Given the description of an element on the screen output the (x, y) to click on. 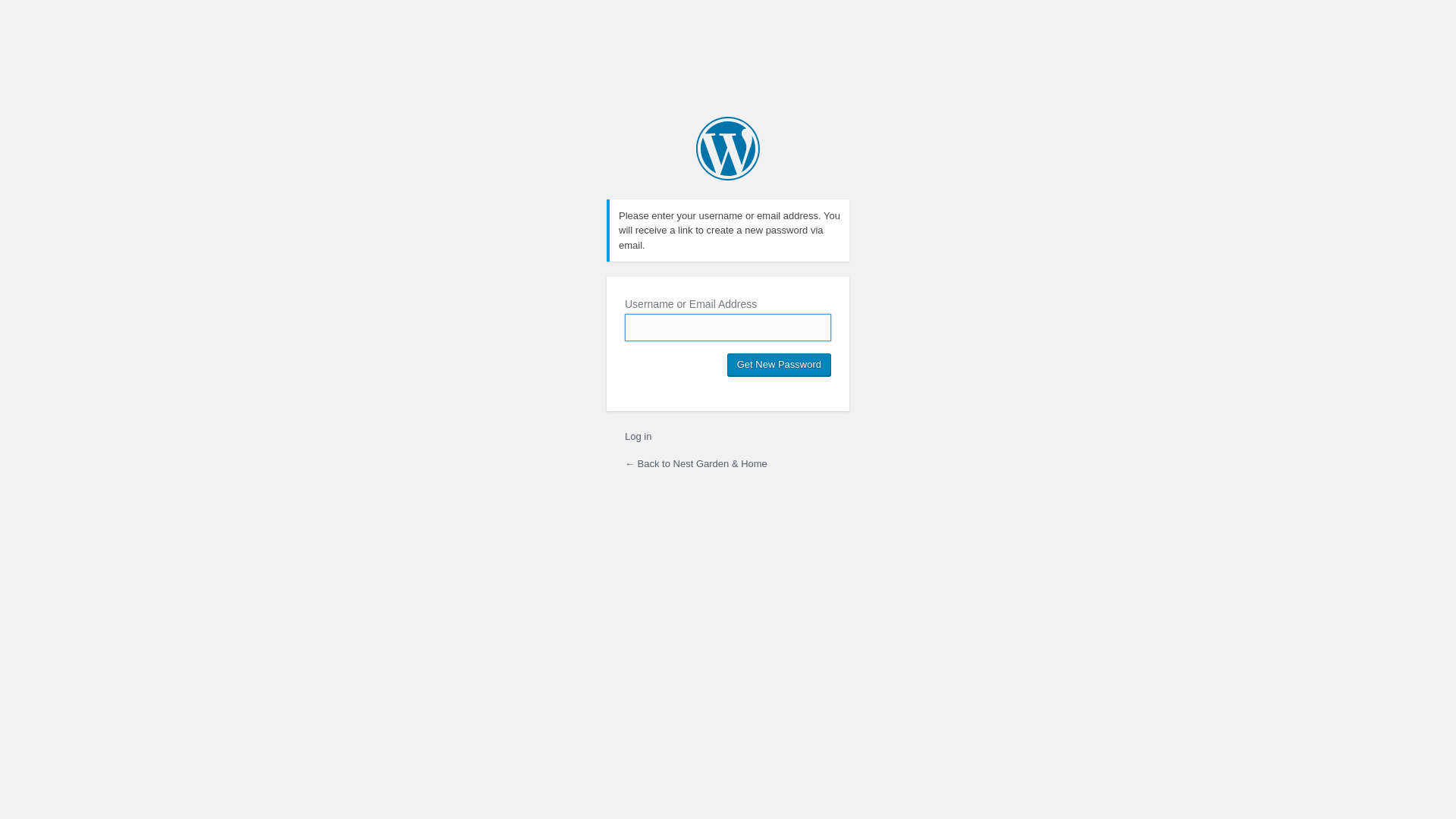
Get New Password Element type: text (779, 364)
Nest Garden & Home Element type: text (727, 148)
Log in Element type: text (637, 436)
